Given the description of an element on the screen output the (x, y) to click on. 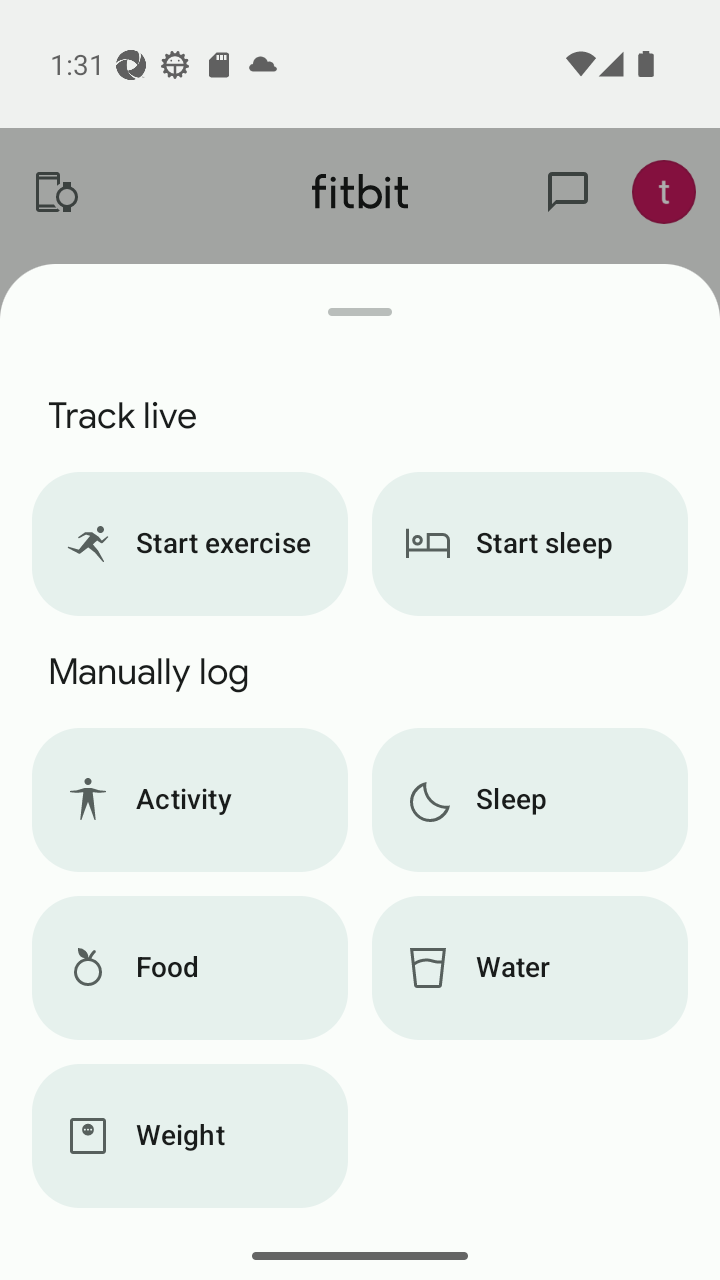
Start exercise (189, 543)
Start sleep (530, 543)
Activity (189, 799)
Sleep (530, 799)
Food (189, 967)
Water (530, 967)
Weight (189, 1135)
